Given the description of an element on the screen output the (x, y) to click on. 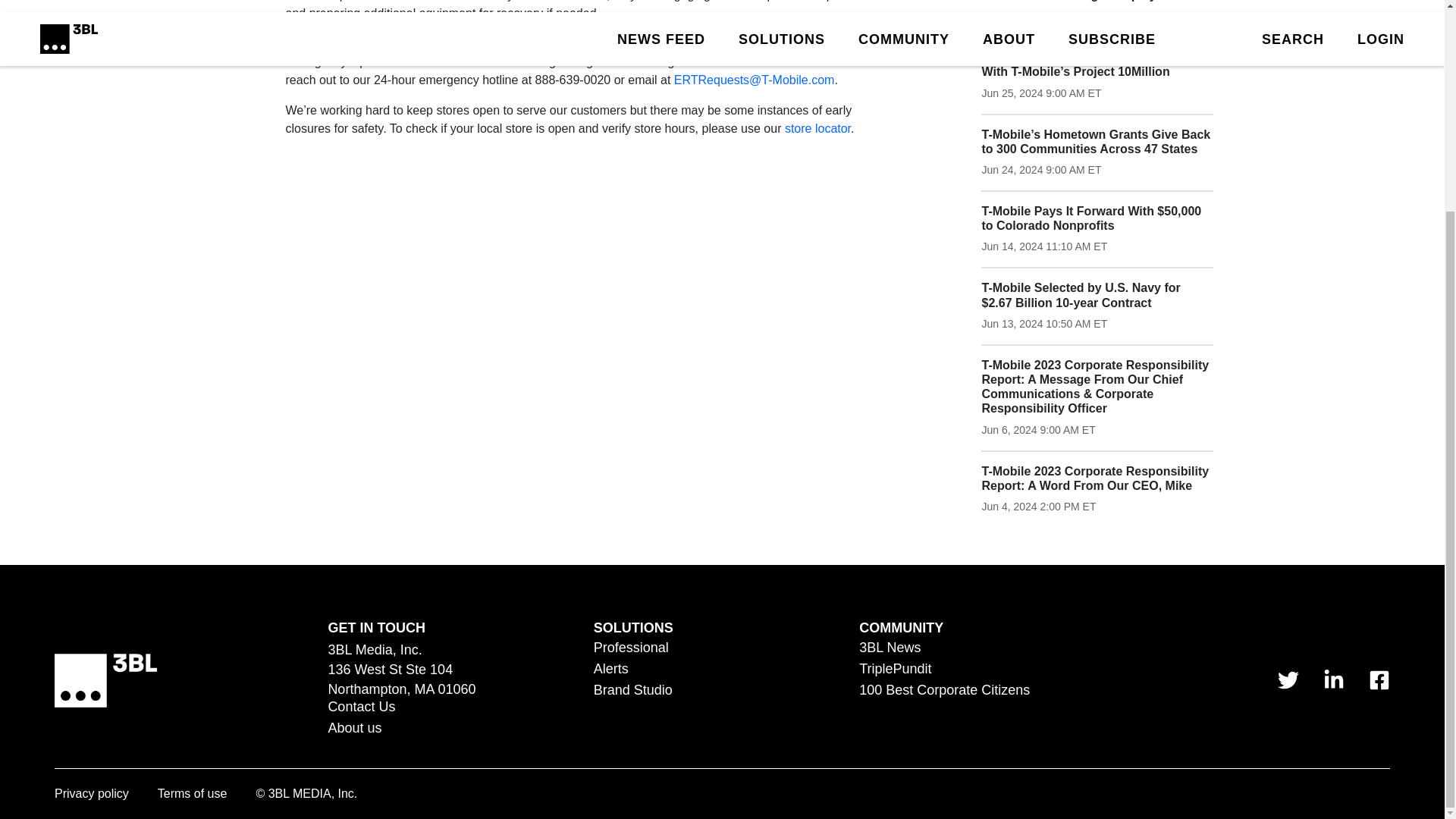
link to 3 B L Media's Linkedin (1333, 680)
link to 3 B L Media's Facebook (1379, 680)
link to 3 B L Media's Twitter (1288, 680)
